Given the description of an element on the screen output the (x, y) to click on. 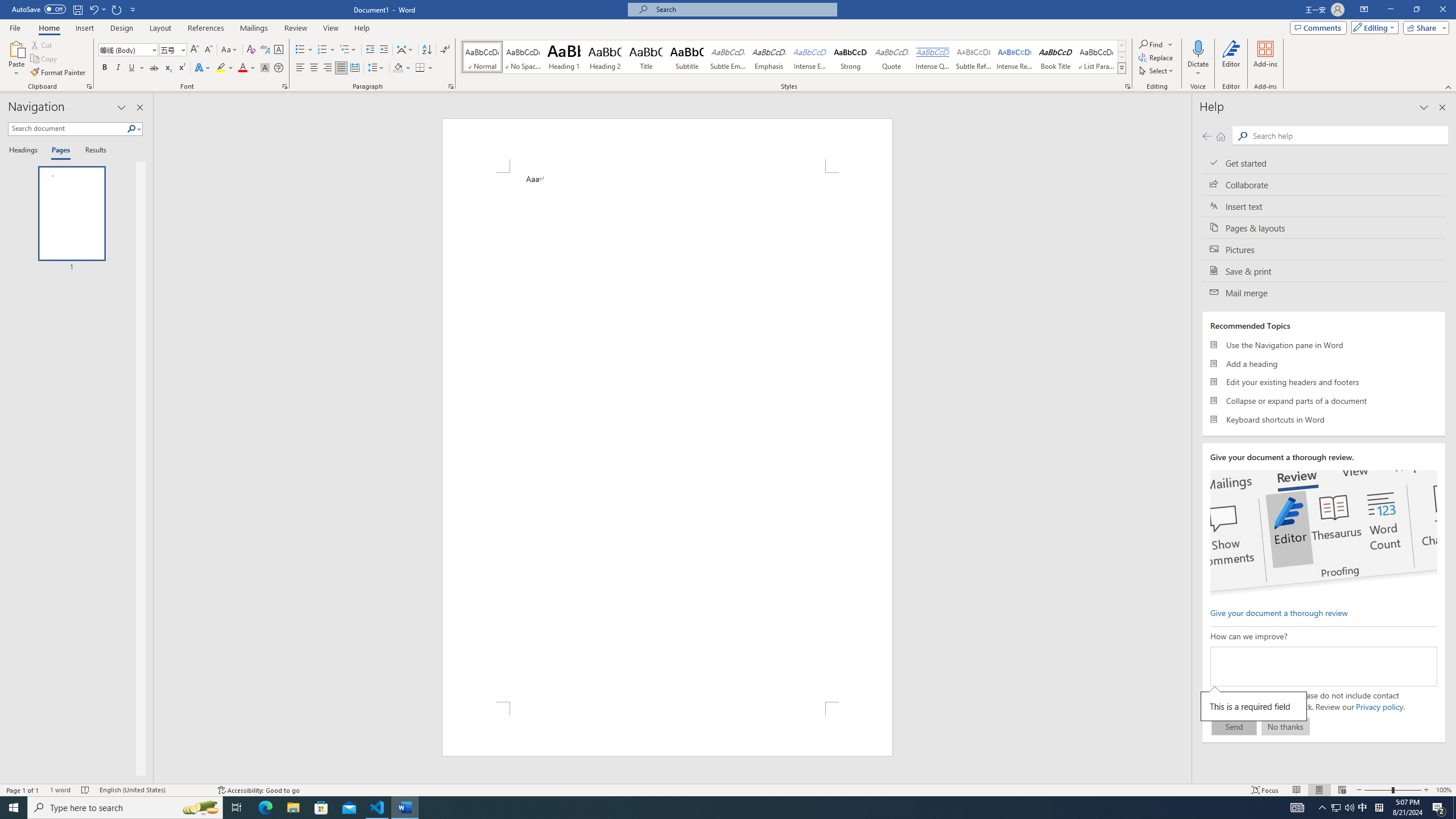
Subtle Reference (973, 56)
